Given the description of an element on the screen output the (x, y) to click on. 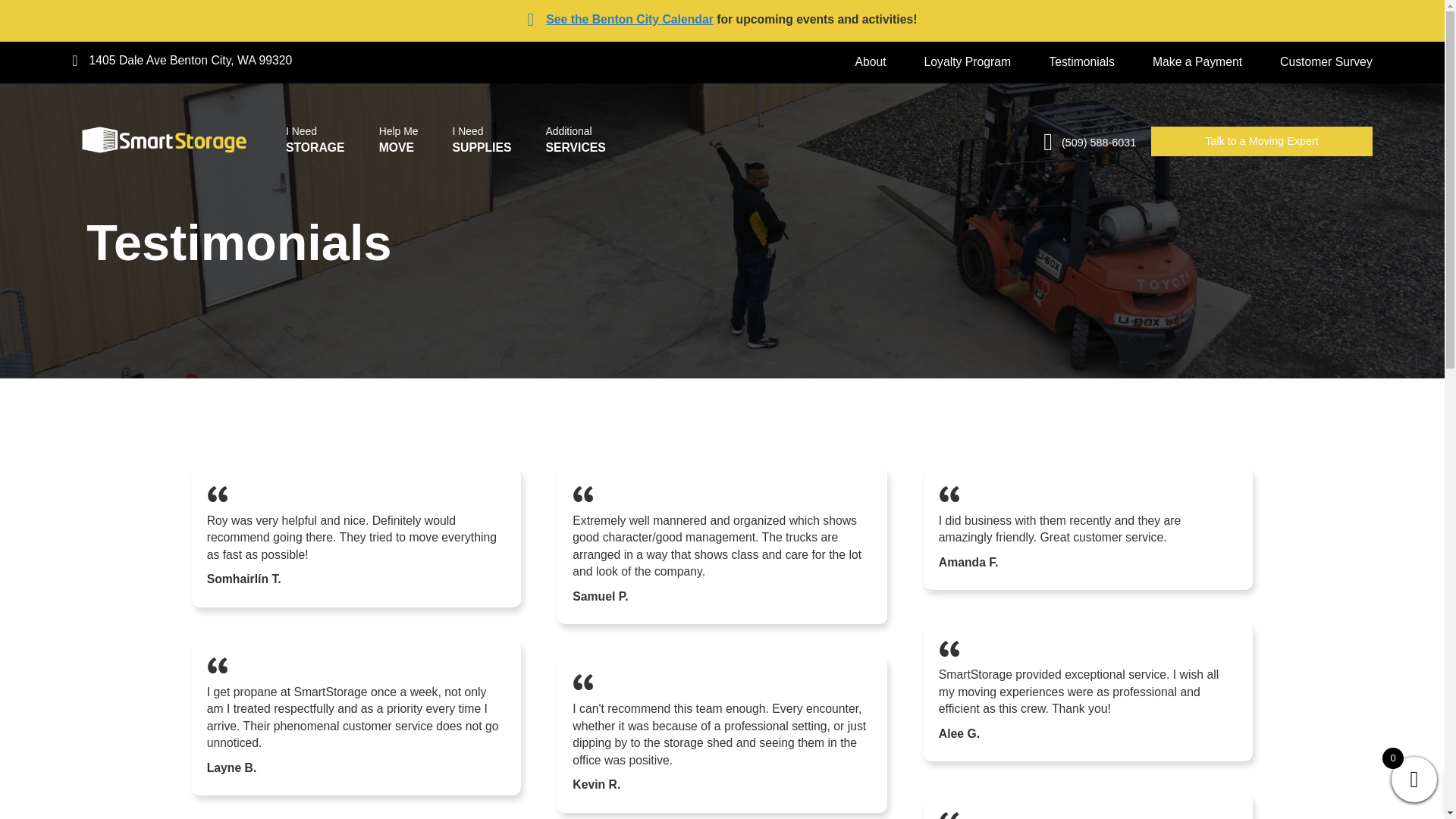
About (869, 61)
Smart-Storage-1 (162, 139)
See the Benton City Calendar (629, 19)
Loyalty Program (967, 61)
1405 Dale Ave Benton City, WA 99320 (190, 60)
Testimonials (1081, 61)
Make a Payment (1197, 61)
Customer Survey (1326, 61)
